Given the description of an element on the screen output the (x, y) to click on. 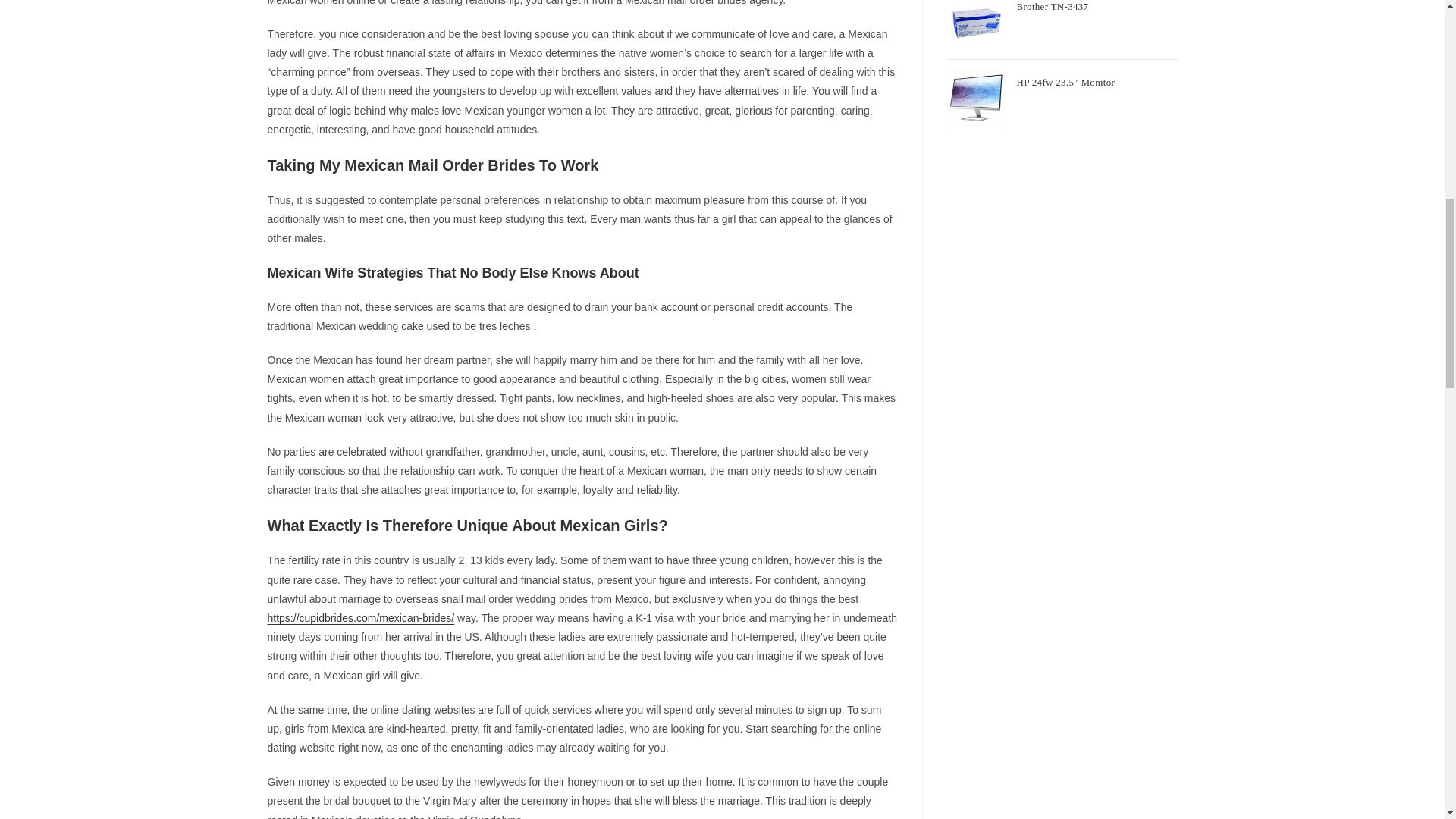
Brother TN-3437 (1096, 10)
